Given the description of an element on the screen output the (x, y) to click on. 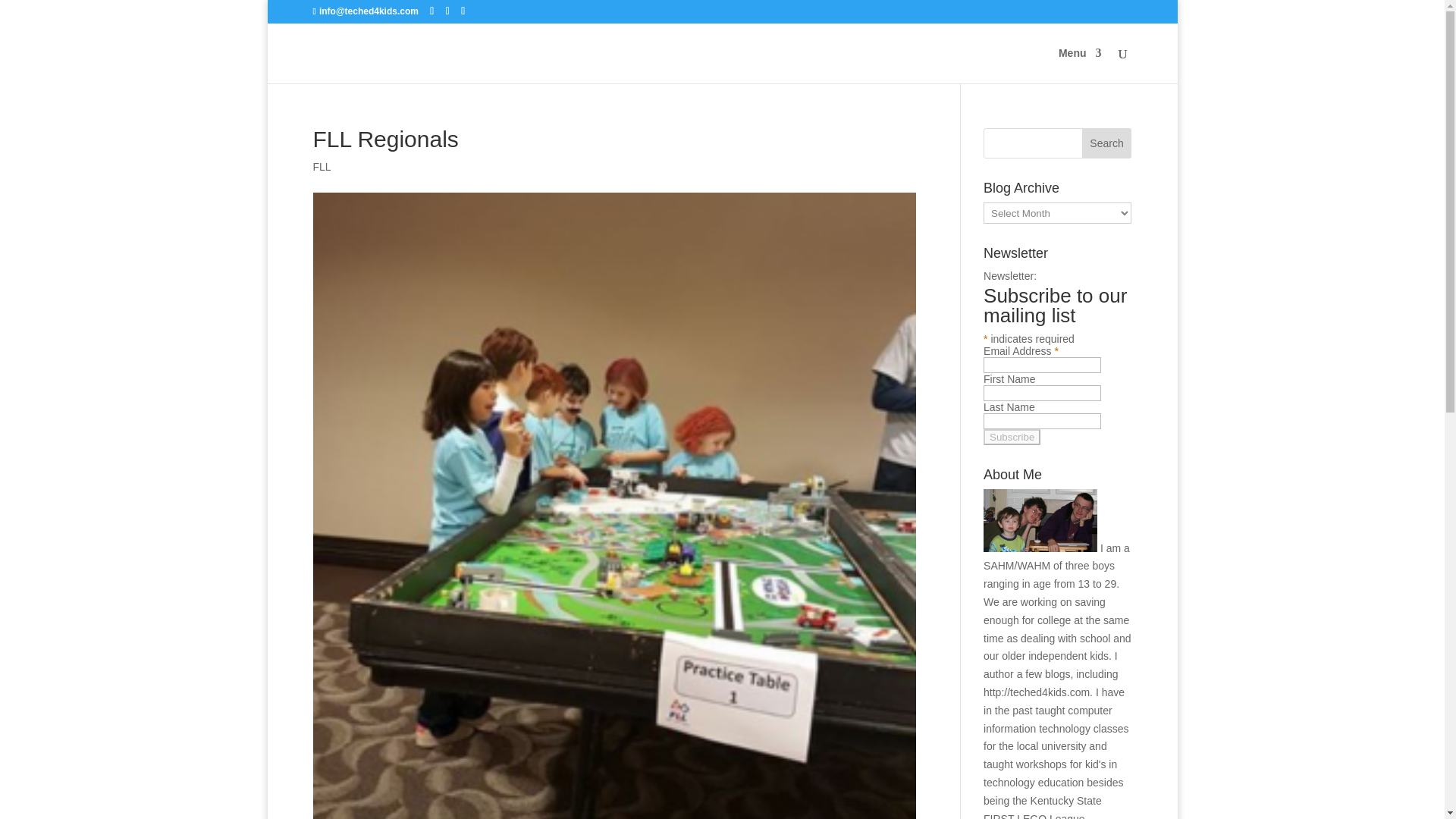
Subscribe (1012, 437)
Menu (1080, 65)
Search (1106, 142)
FLL (321, 166)
